Given the description of an element on the screen output the (x, y) to click on. 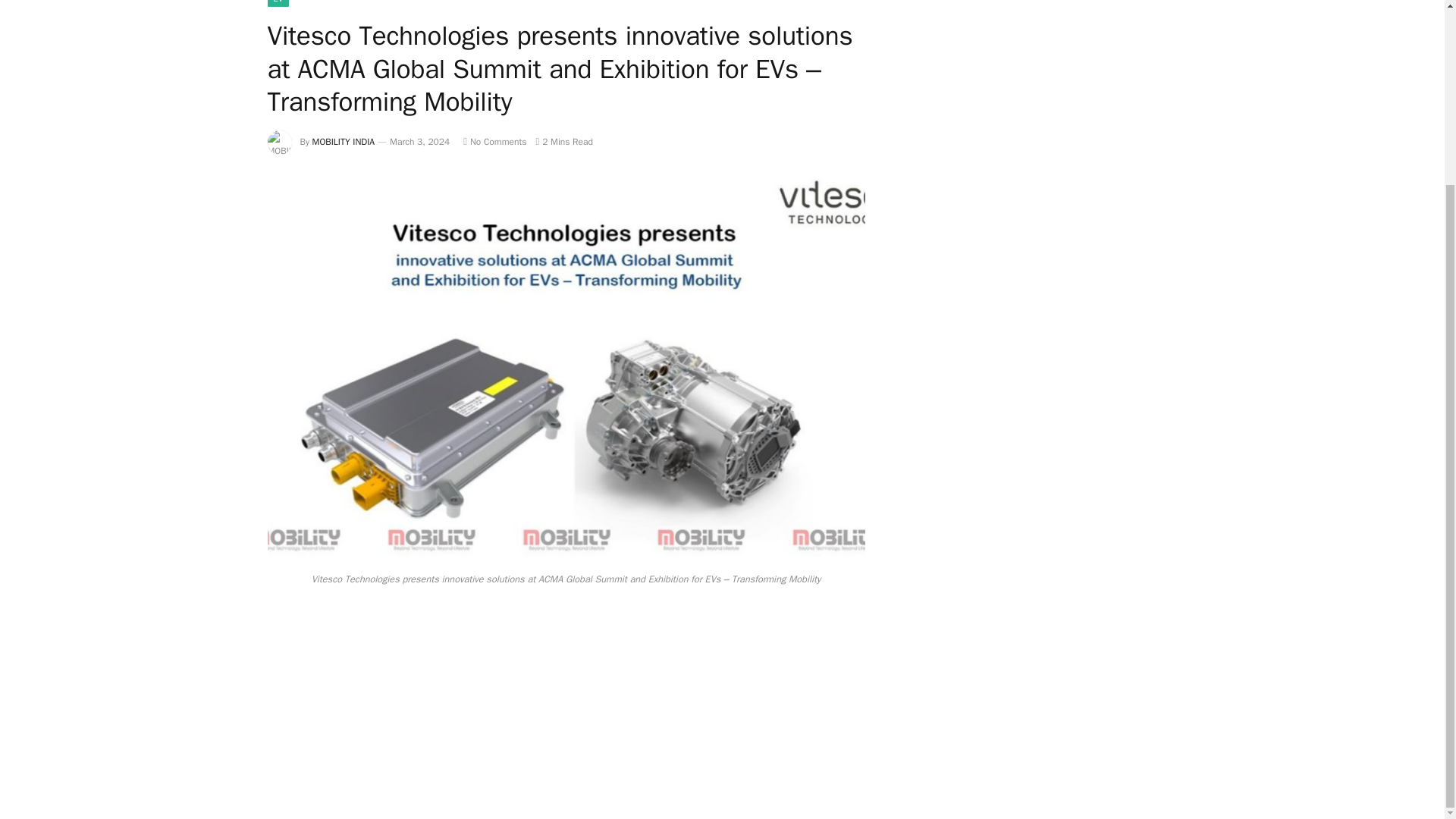
Posts by MOBILITY INDIA (344, 141)
